Given the description of an element on the screen output the (x, y) to click on. 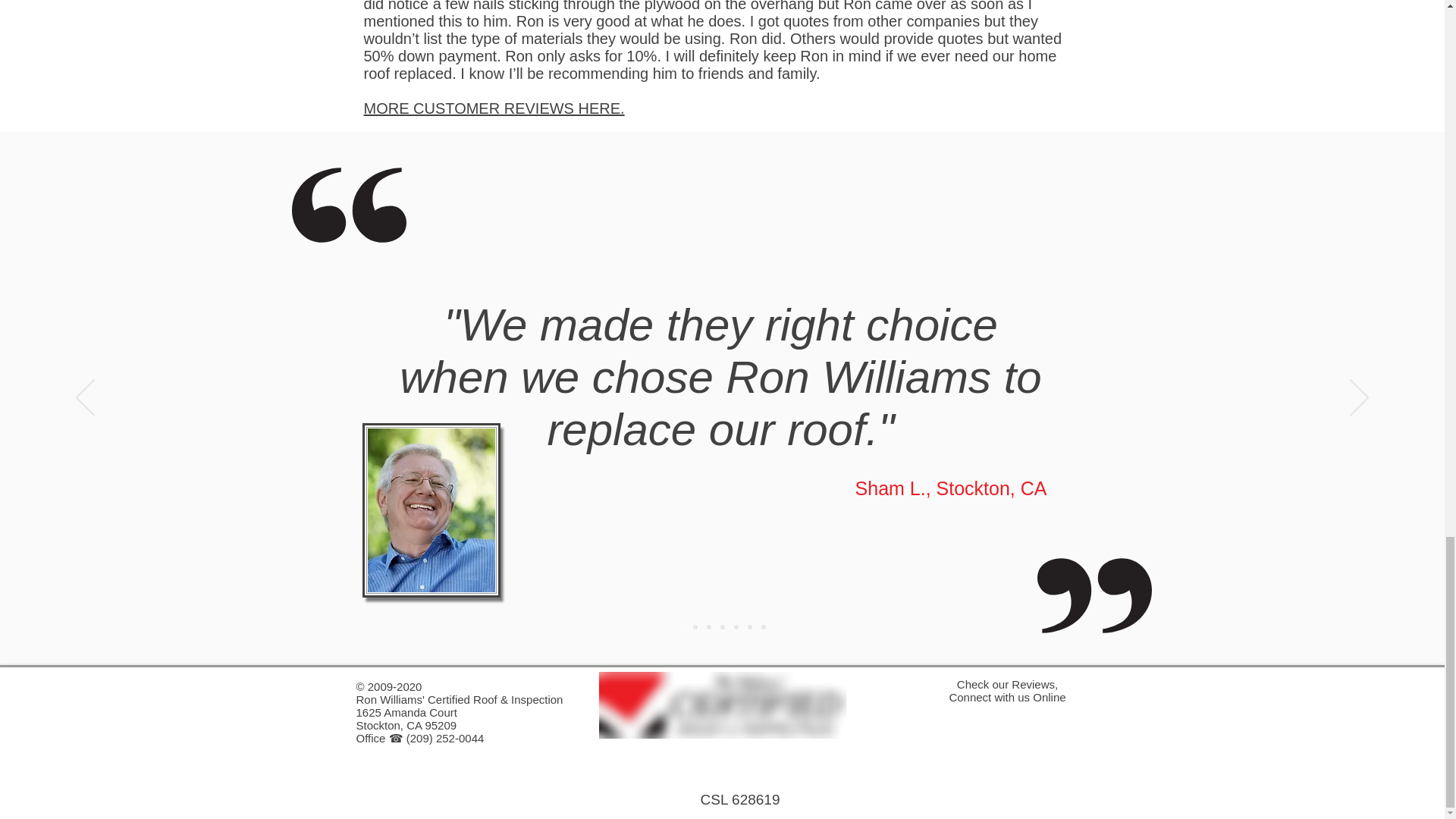
Sham L. (891, 487)
Stockton, CA 95209 (406, 725)
1625 Amanda Court (406, 712)
MORE CUSTOMER REVIEWS HERE. (494, 108)
